Given the description of an element on the screen output the (x, y) to click on. 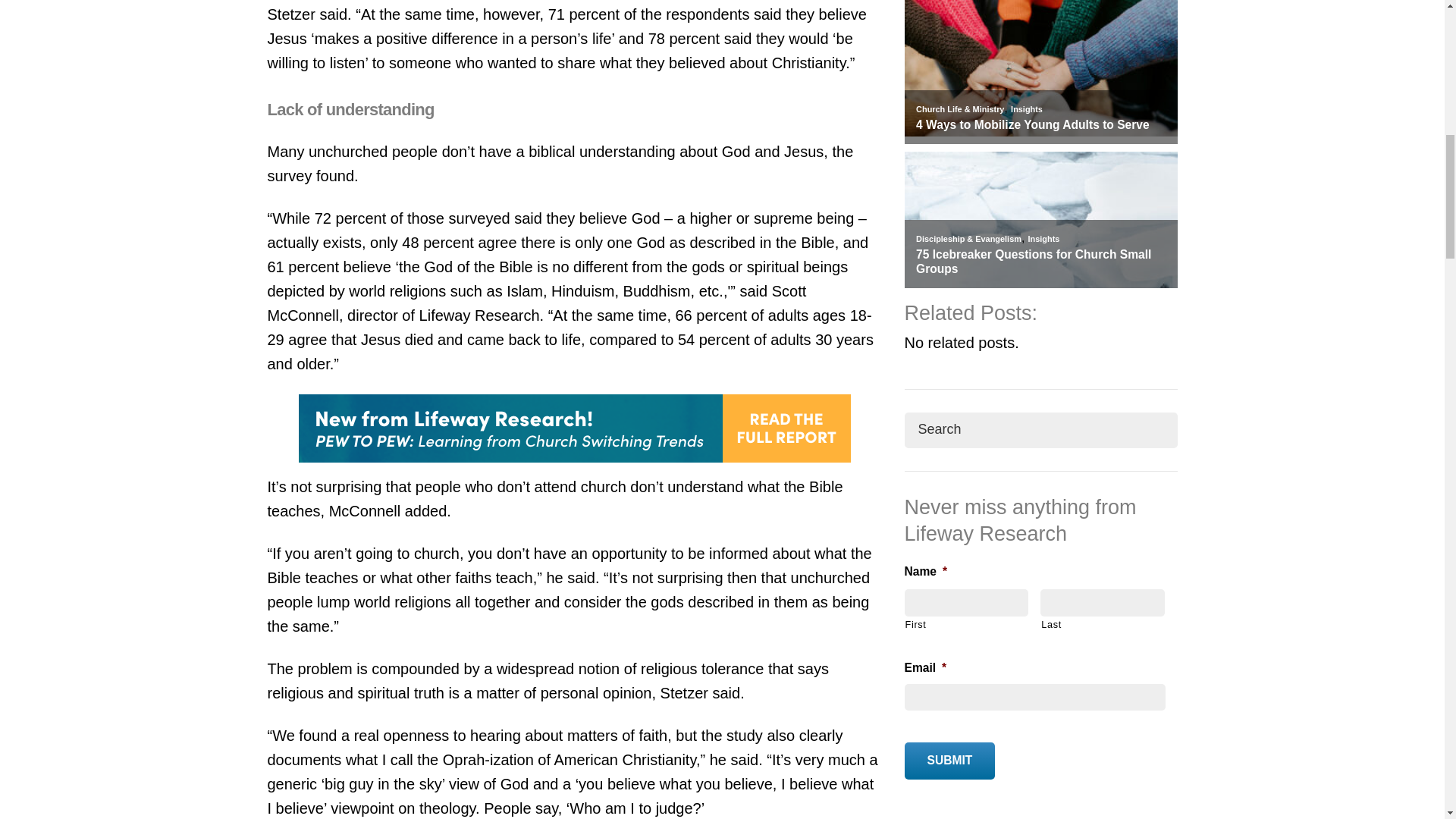
Submit (949, 760)
Insights (1026, 108)
4 Ways to Mobilize Young Adults to Serve (1040, 124)
